Given the description of an element on the screen output the (x, y) to click on. 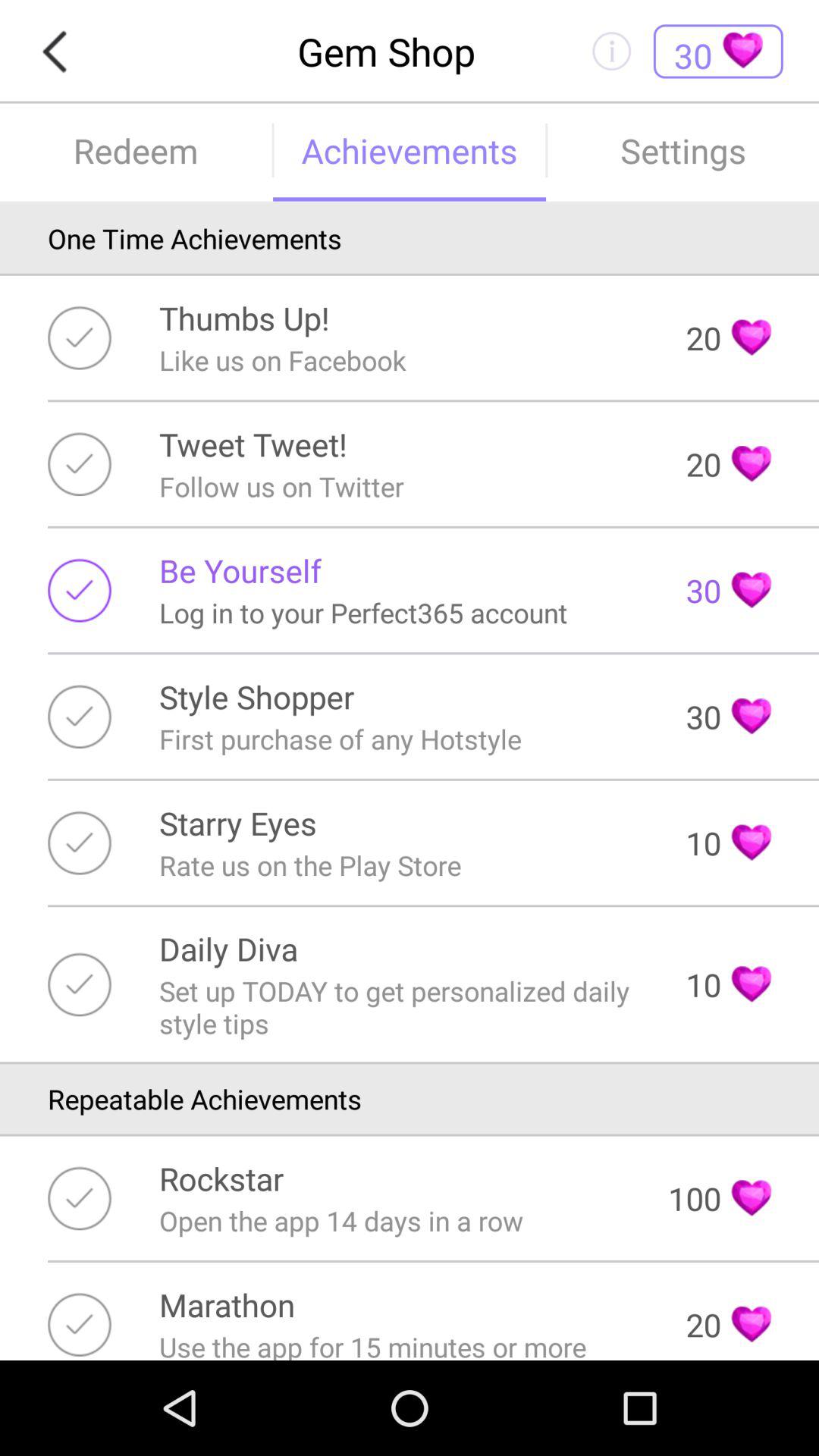
tap the item above the log in to (240, 570)
